Given the description of an element on the screen output the (x, y) to click on. 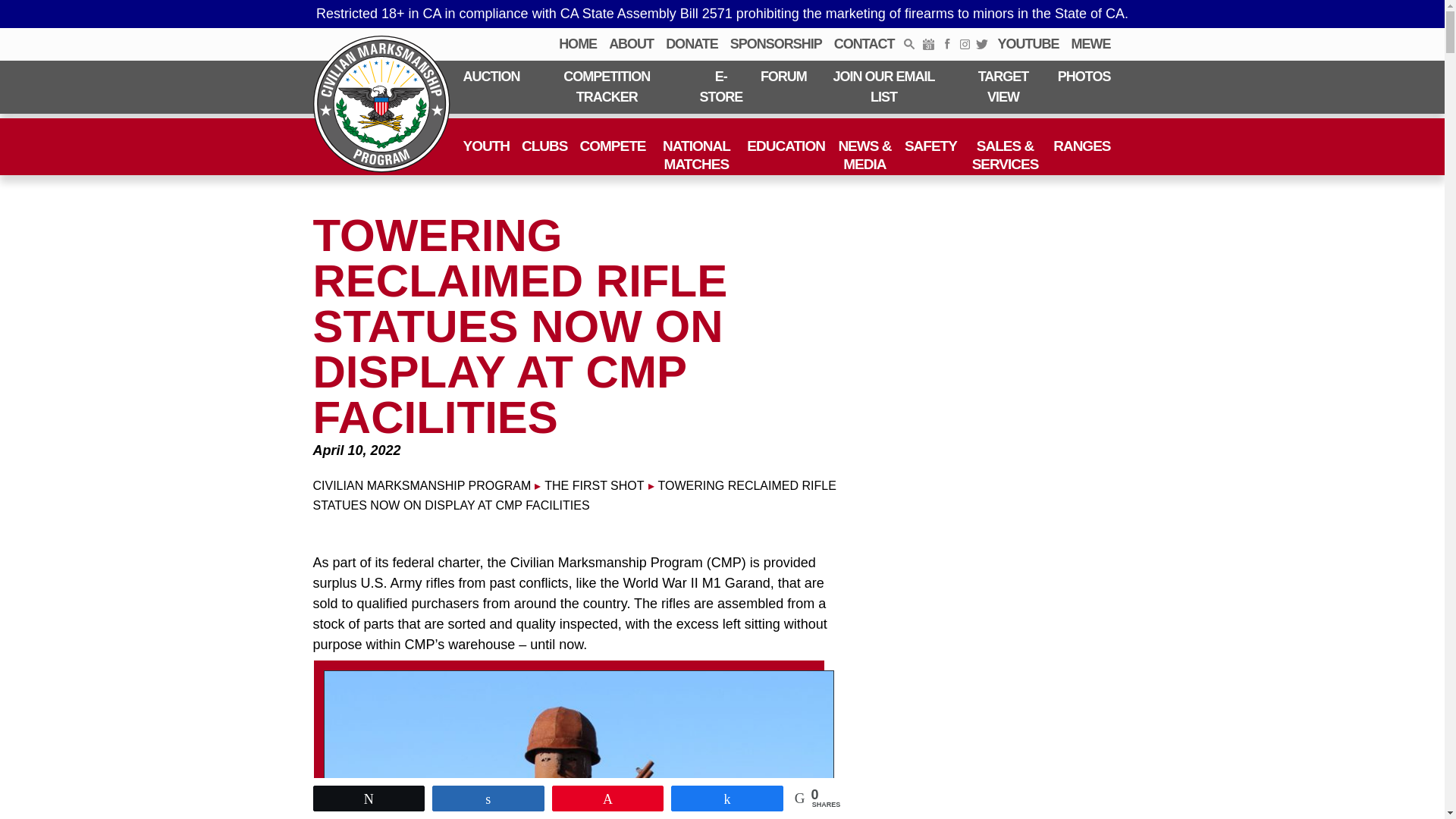
JOIN OUR EMAIL LIST (883, 86)
COMPETITION TRACKER (606, 86)
E-STORE (720, 86)
ABOUT (630, 43)
DONATE (691, 43)
AUCTION (491, 76)
PHOTOS (1083, 76)
SPONSORSHIP (775, 43)
CONTACT (864, 43)
Go to the The First Shot category archives. (593, 485)
Civilian Marksmanship Program (381, 104)
TARGET VIEW (1003, 86)
FORUM (783, 76)
HOME (577, 43)
Go to Civilian Marksmanship Program. (422, 485)
